Given the description of an element on the screen output the (x, y) to click on. 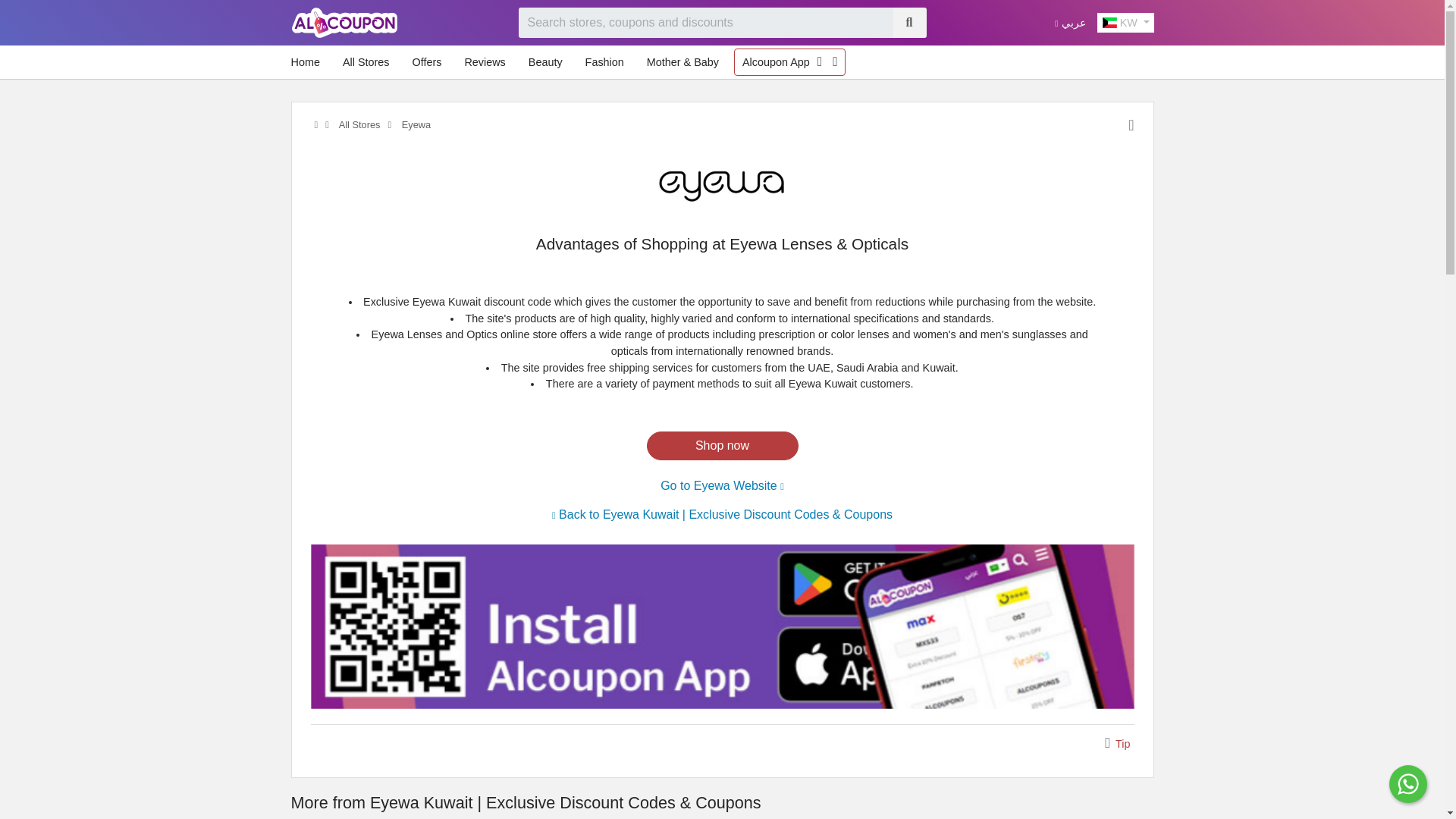
All Stores (358, 124)
All Stores (365, 61)
Eyewa (721, 185)
Alcoupon App (775, 62)
All Coupons and deals for Kuwait stores (358, 124)
Fashion (604, 61)
Eyewa (414, 124)
Shop now (721, 445)
Home (309, 61)
Eyewa (721, 184)
